Given the description of an element on the screen output the (x, y) to click on. 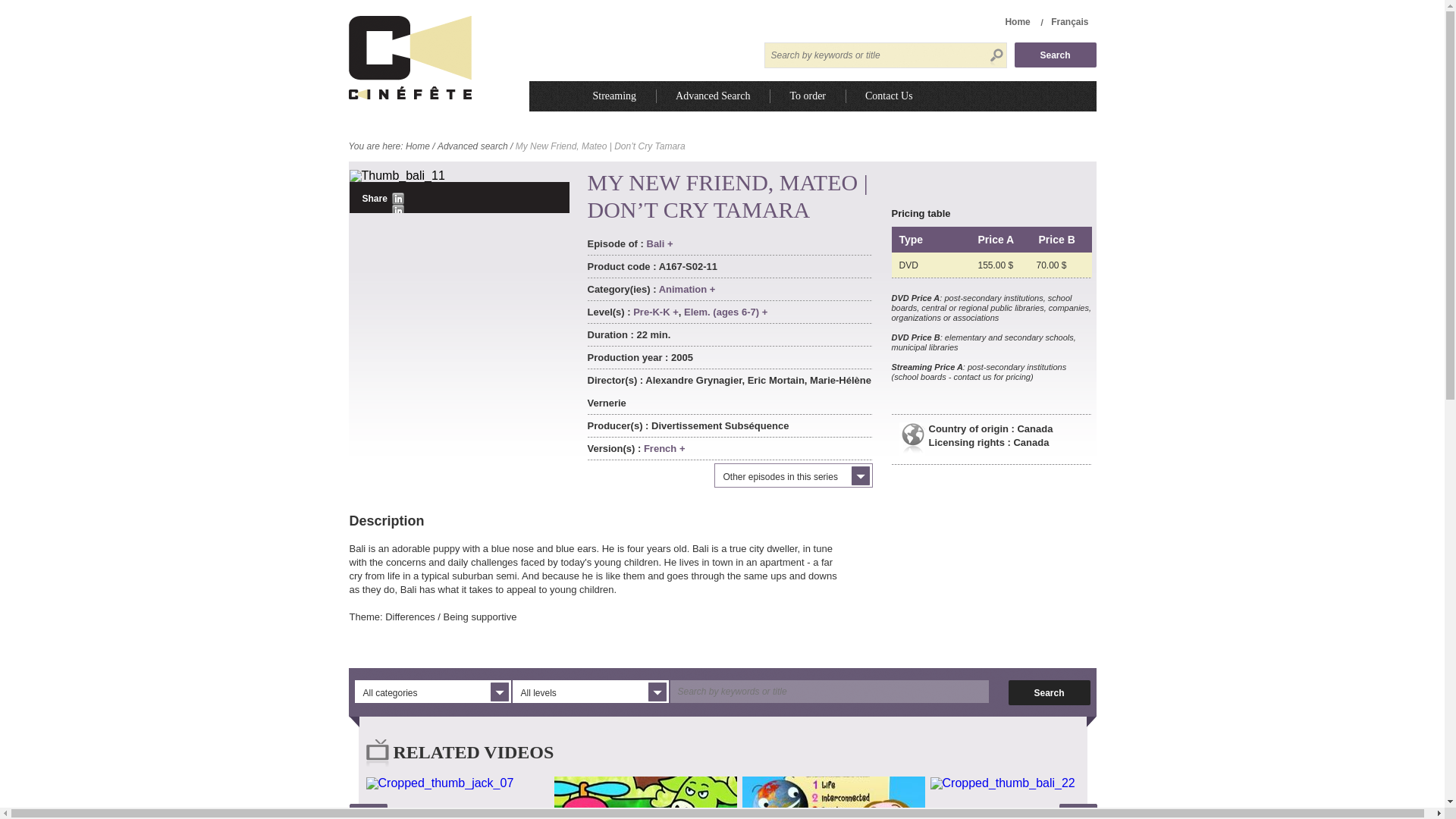
Search (1055, 54)
Advanced search (473, 145)
To order (807, 96)
Home (1016, 21)
Search (1055, 54)
Home (417, 145)
Streaming (614, 96)
Advanced Search (712, 96)
Search (1049, 692)
Search (1055, 54)
Search (1049, 692)
No video available (396, 174)
Contact Us (888, 96)
